Given the description of an element on the screen output the (x, y) to click on. 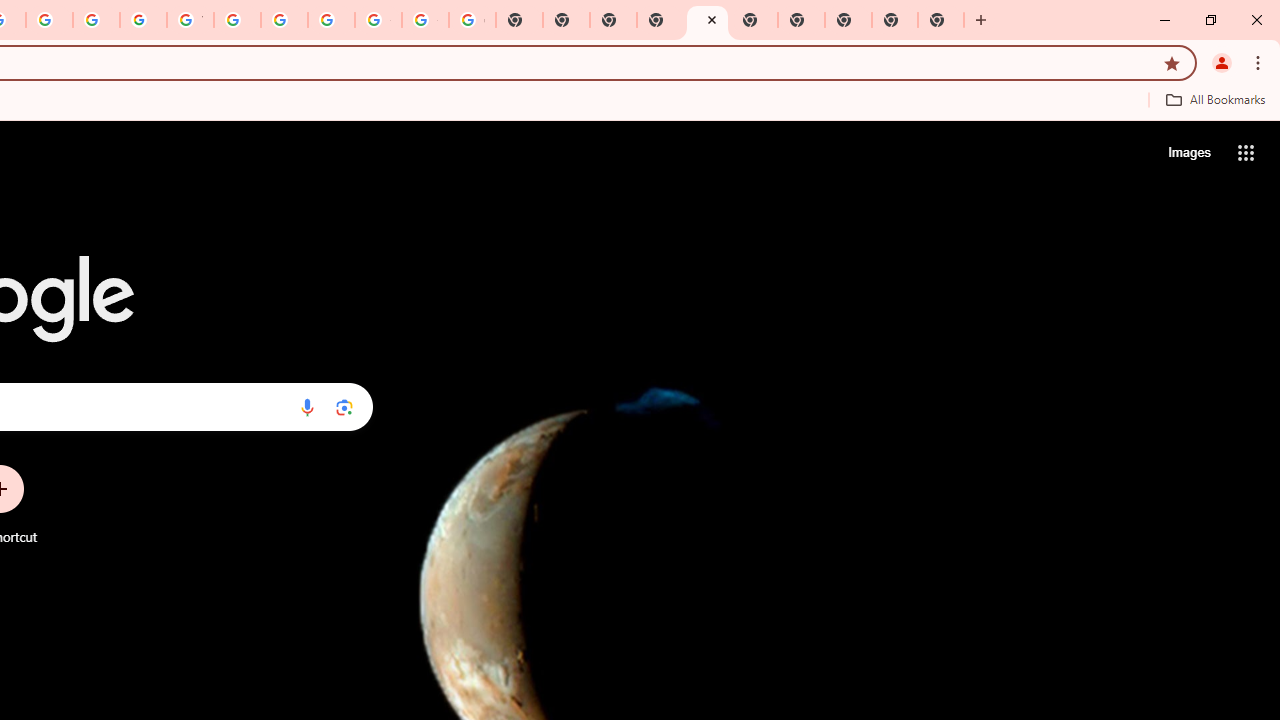
Search by image (344, 407)
Search for Images  (1188, 152)
Browse Chrome as a guest - Computer - Google Chrome Help (237, 20)
New Tab (940, 20)
Privacy Help Center - Policies Help (48, 20)
